Given the description of an element on the screen output the (x, y) to click on. 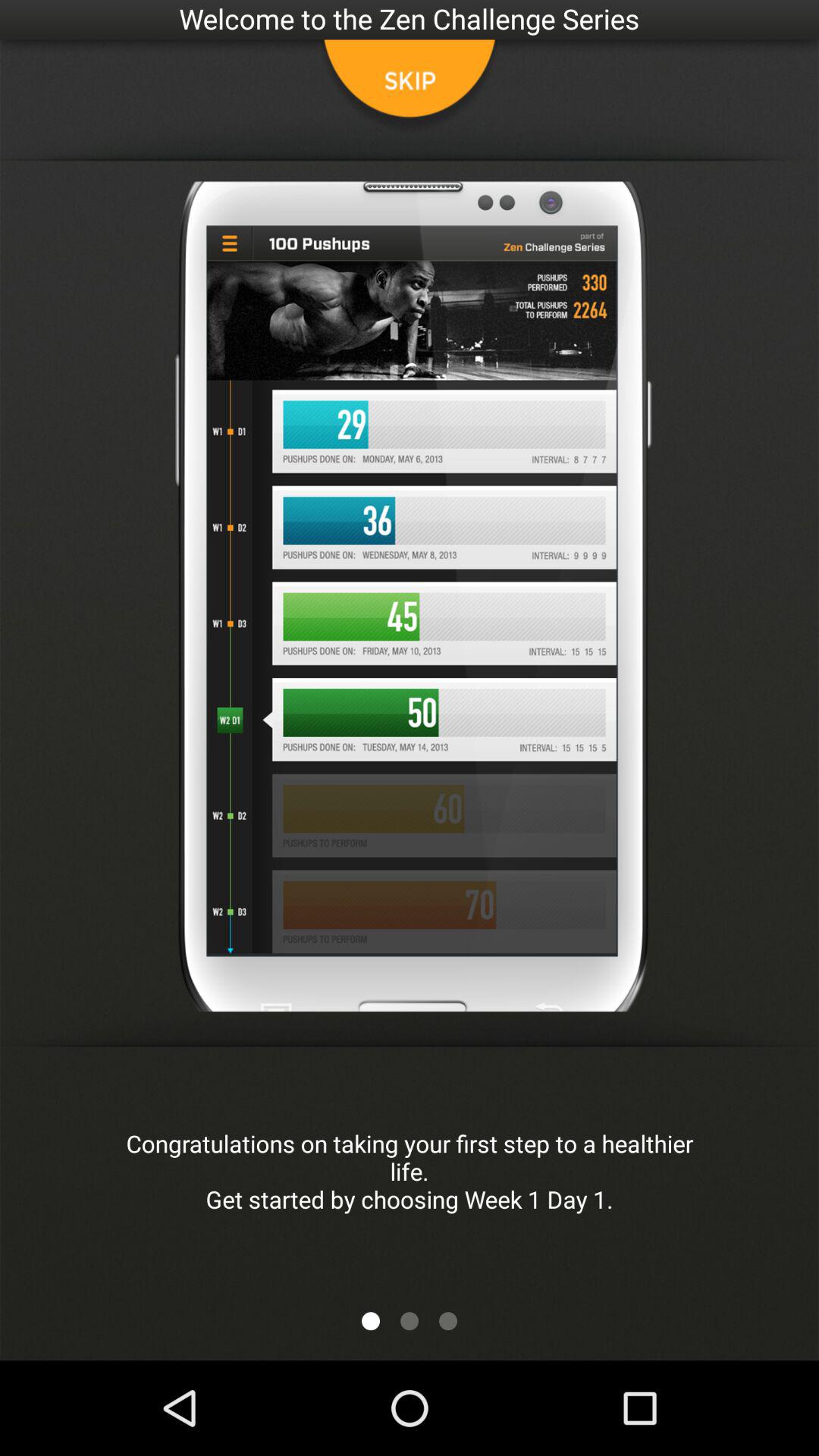
scroll to the next page (448, 1321)
